Given the description of an element on the screen output the (x, y) to click on. 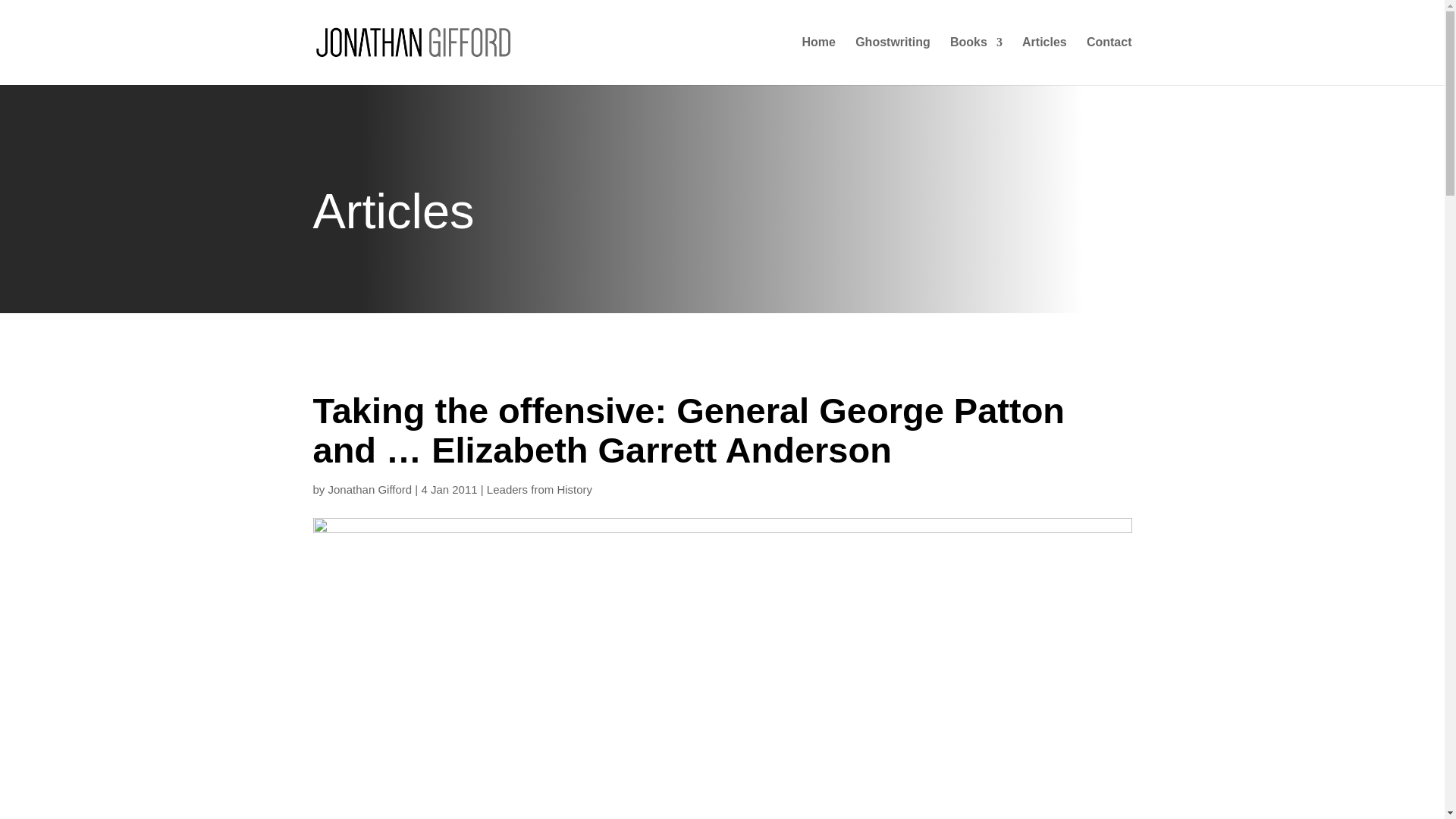
Articles (1044, 60)
Jonathan Gifford (370, 489)
Books (976, 60)
Ghostwriting (893, 60)
Leaders from History (539, 489)
Contact (1109, 60)
Posts by Jonathan Gifford (370, 489)
